Given the description of an element on the screen output the (x, y) to click on. 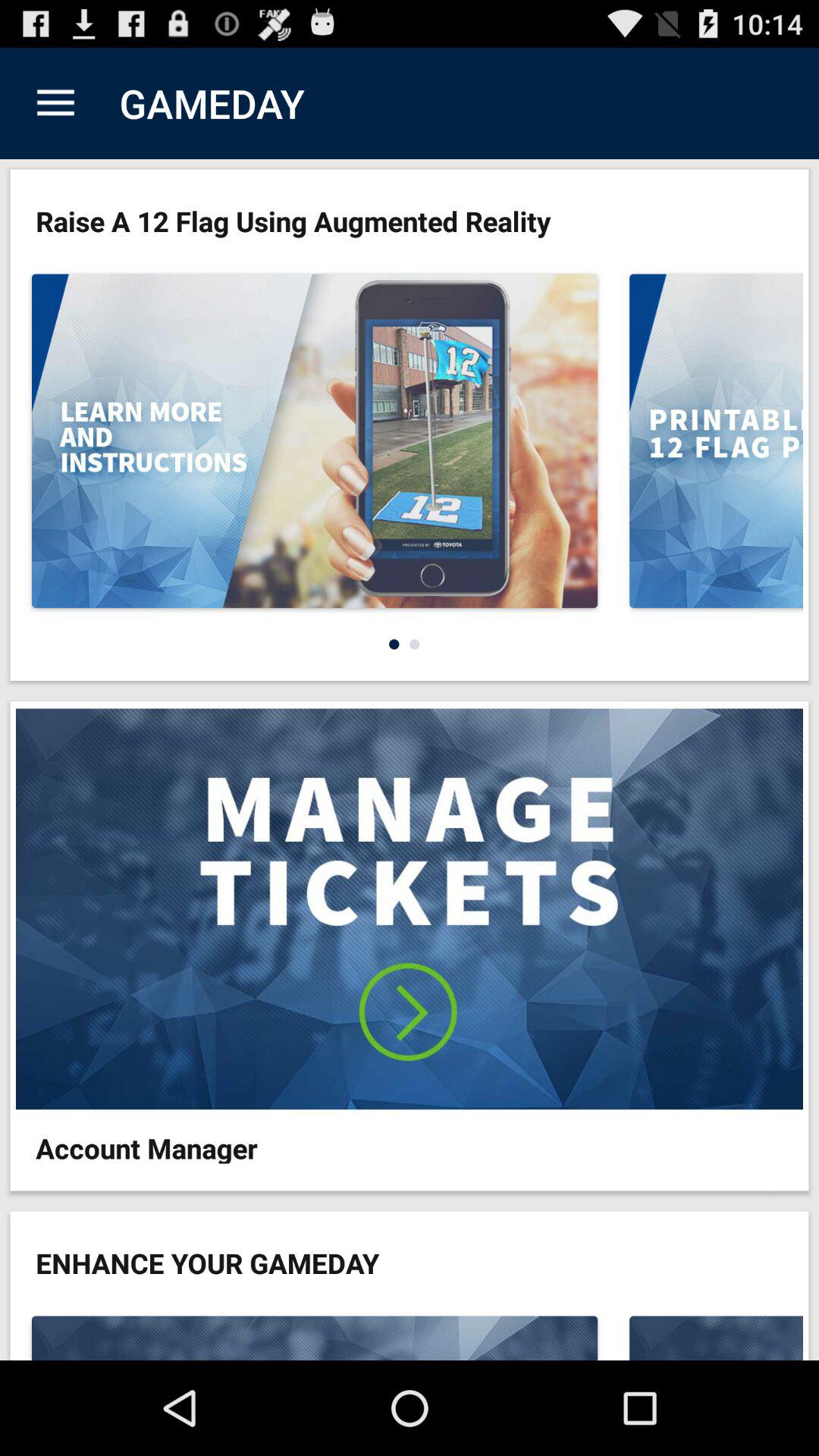
turn off item to the left of the gameday (55, 103)
